Given the description of an element on the screen output the (x, y) to click on. 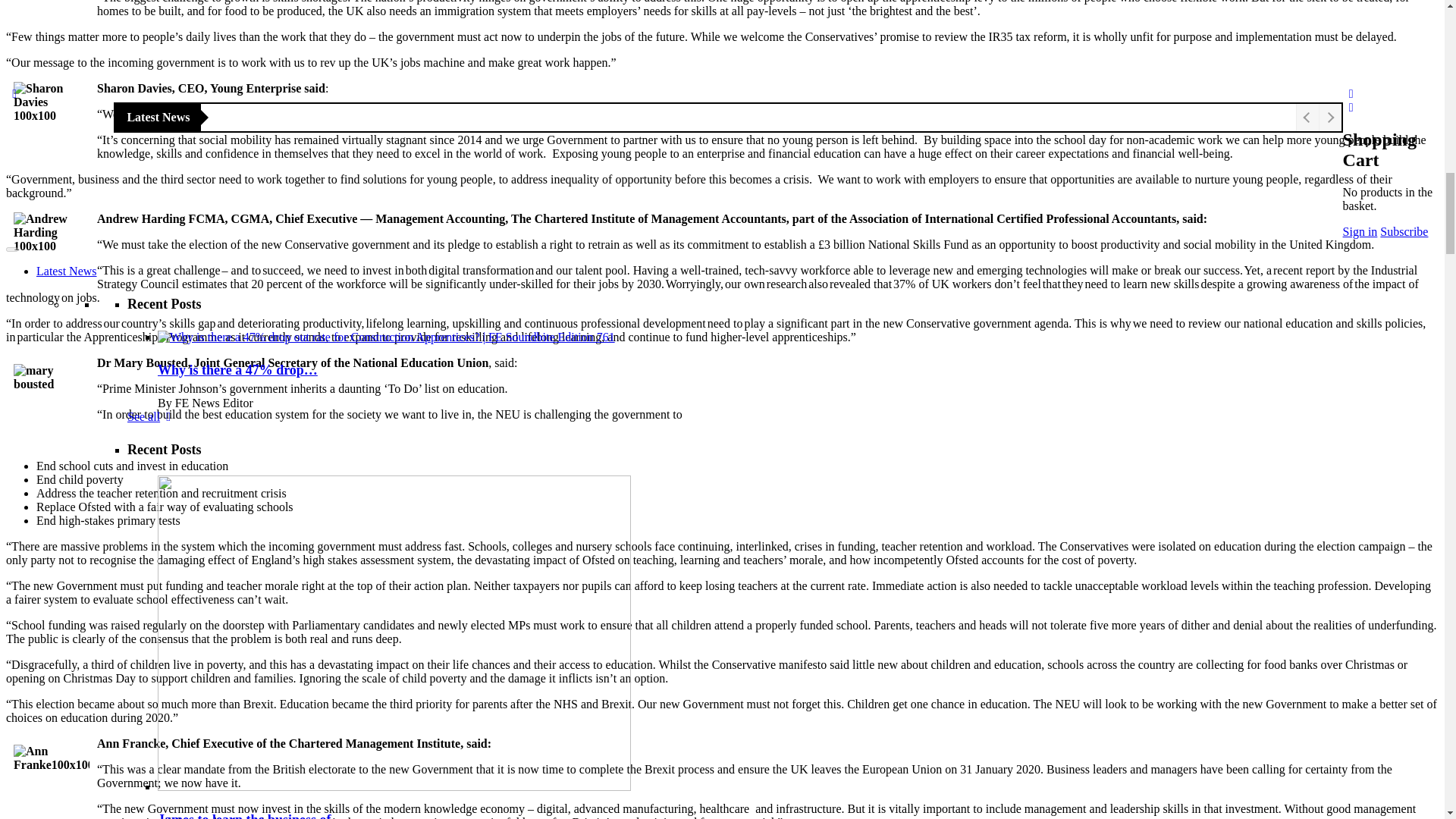
See all (152, 111)
See all (152, 256)
